Given the description of an element on the screen output the (x, y) to click on. 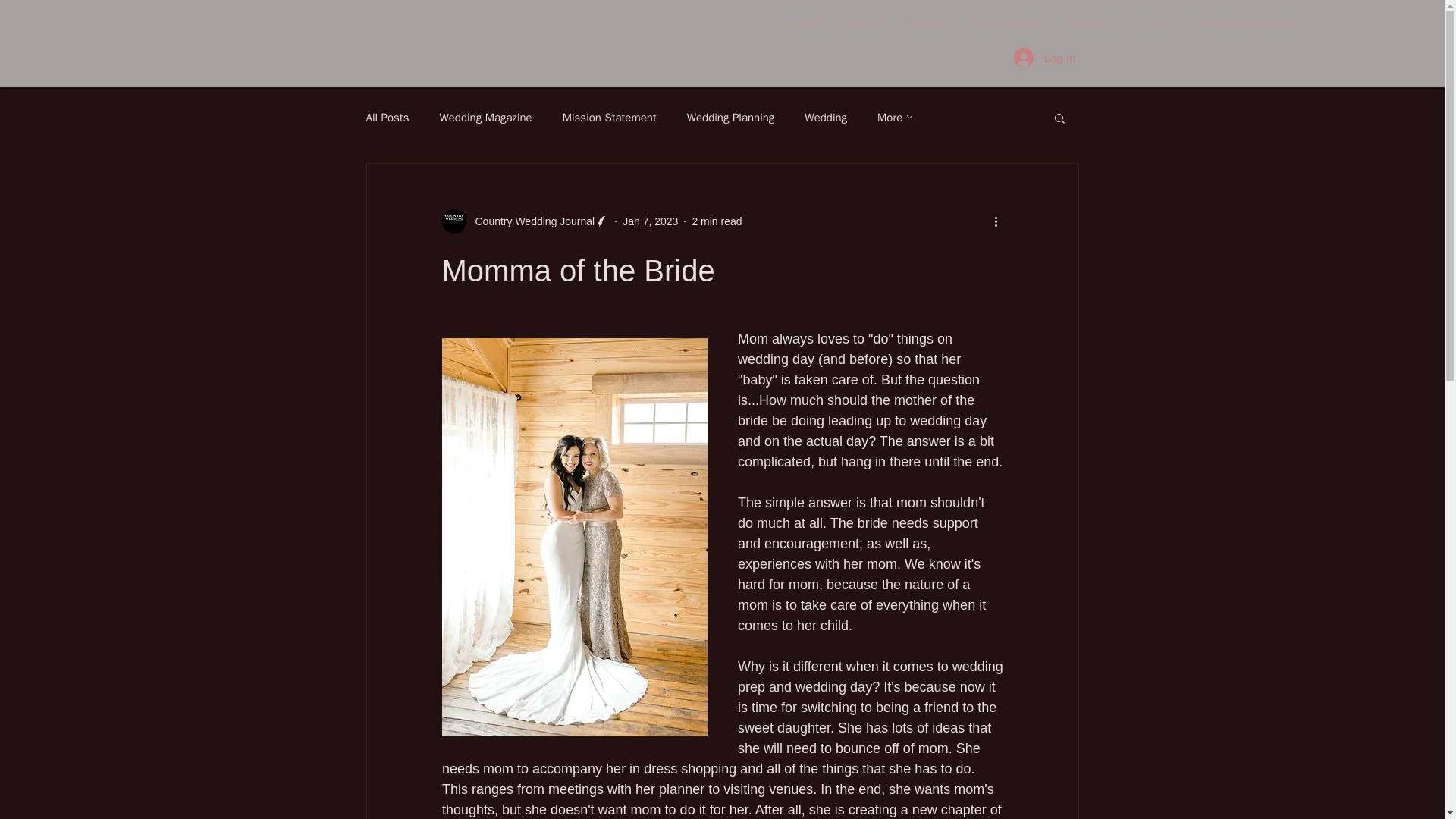
Country Wedding Journal (524, 221)
BLOG (1152, 23)
All Posts (387, 117)
Wedding Planning (730, 117)
ORDER (864, 23)
Wedding Magazine (485, 117)
Pinterest Code (235, 30)
VENDORS (1088, 23)
Wedding (826, 117)
Country Wedding Journal (529, 221)
Log In (1044, 57)
INSPIRATION (1006, 23)
2 min read (716, 221)
HOME (806, 23)
Mission Statement (609, 117)
